Given the description of an element on the screen output the (x, y) to click on. 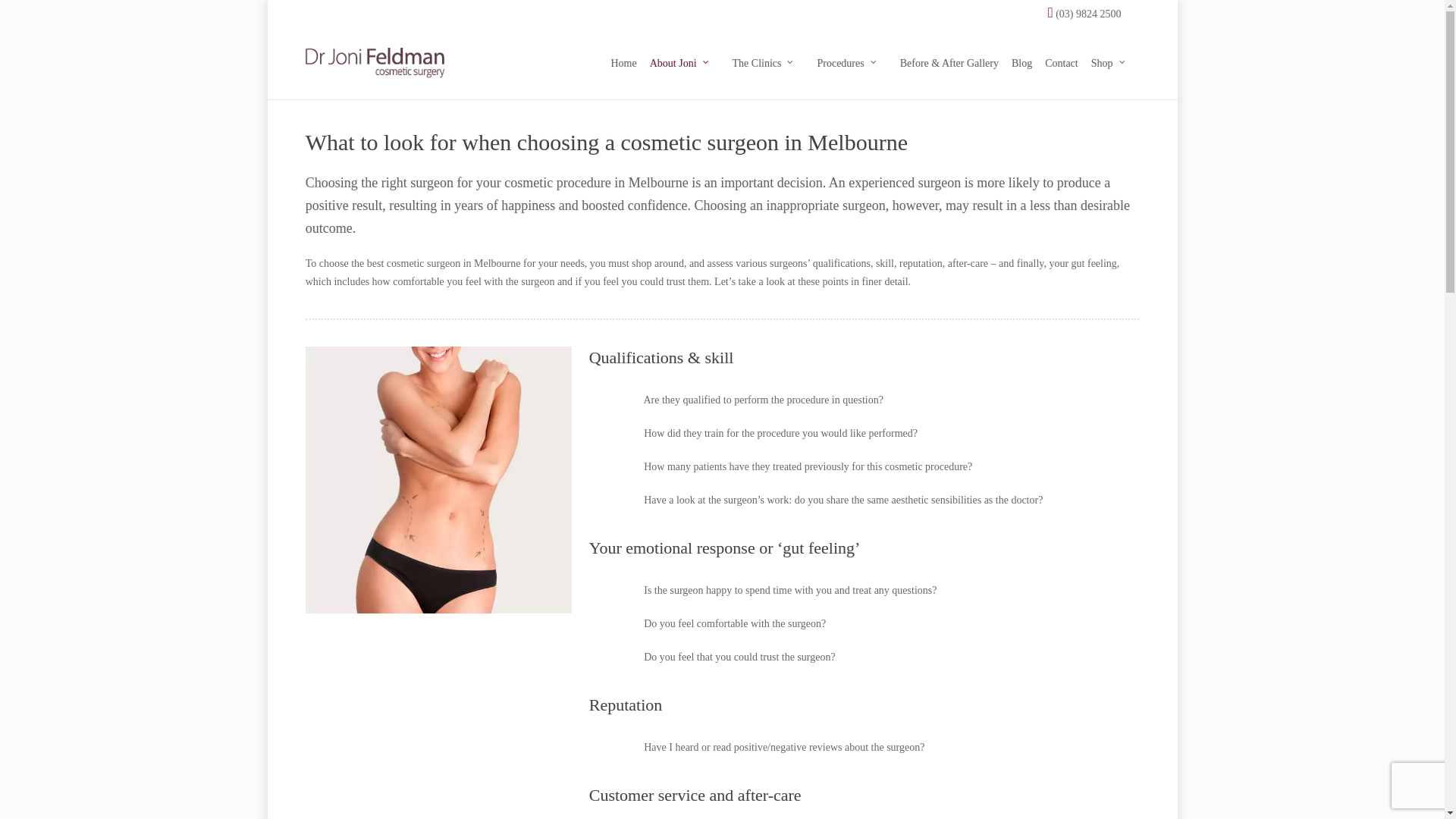
The Clinics Element type: text (765, 63)
(03) 9824 2500 Element type: text (1080, 13)
About Joni Element type: text (681, 63)
Shop Element type: text (1110, 63)
Procedures Element type: text (848, 63)
Blog Element type: text (1018, 63)
Home Element type: text (620, 63)
Contact Element type: text (1058, 63)
Before & After Gallery Element type: text (946, 63)
